Given the description of an element on the screen output the (x, y) to click on. 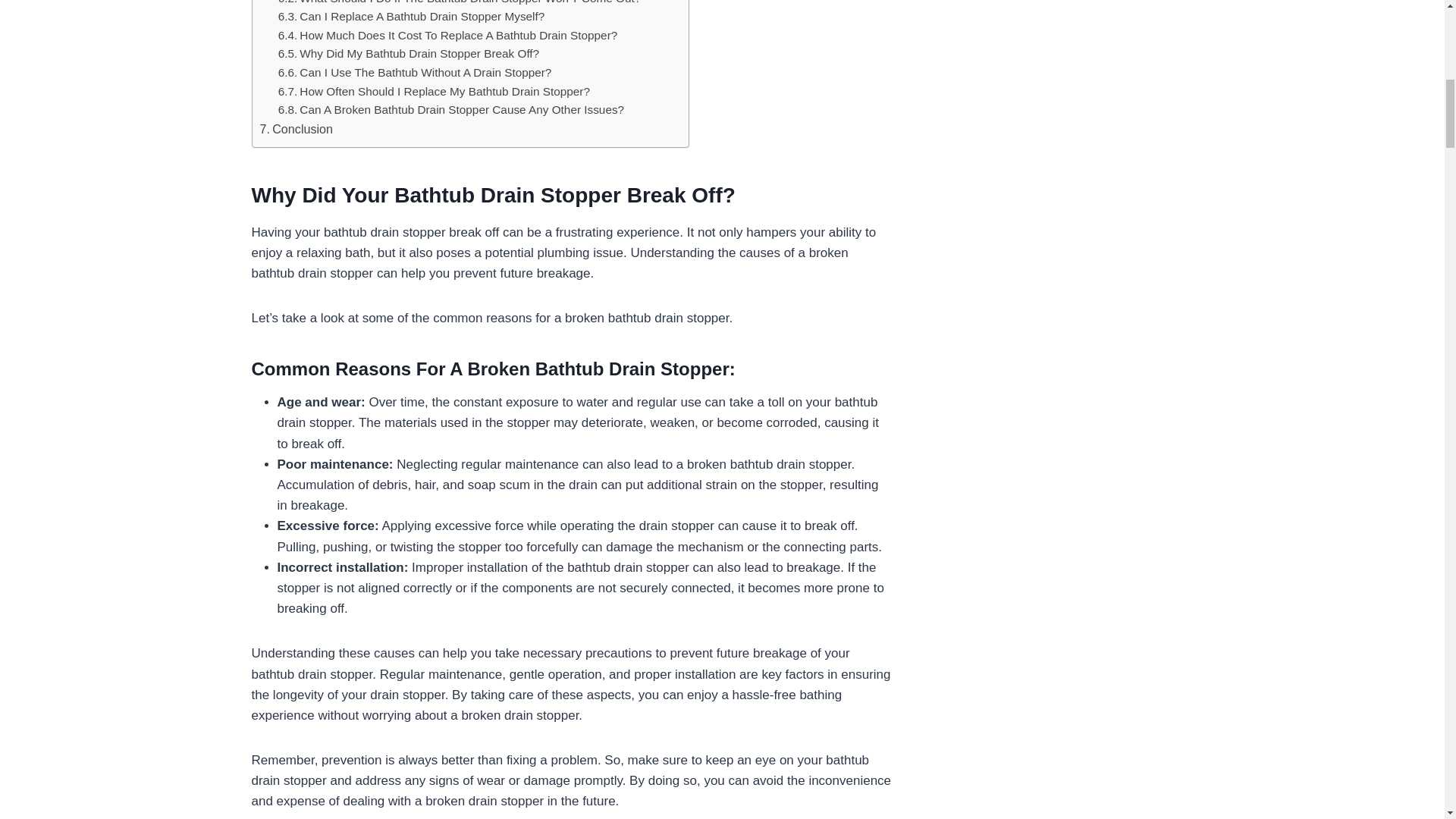
Can I Use The Bathtub Without A Drain Stopper? (414, 72)
How Much Does It Cost To Replace A Bathtub Drain Stopper? (447, 35)
Can A Broken Bathtub Drain Stopper Cause Any Other Issues? (451, 109)
Why Did My Bathtub Drain Stopper Break Off? (408, 54)
How Often Should I Replace My Bathtub Drain Stopper? (433, 91)
Can I Replace A Bathtub Drain Stopper Myself? (411, 16)
